Given the description of an element on the screen output the (x, y) to click on. 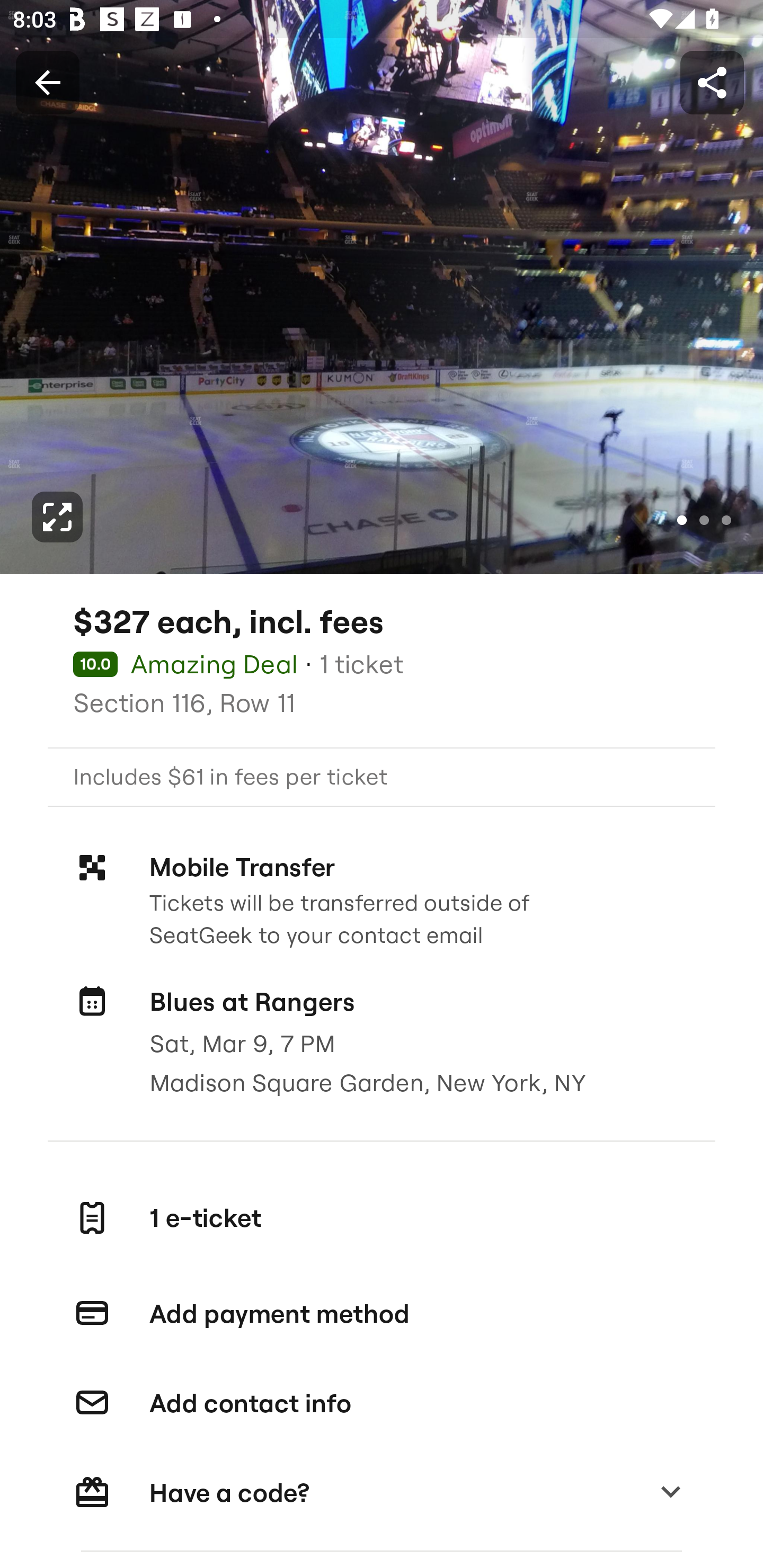
Back (47, 81)
Share (711, 81)
Expand image to fullscreen (57, 517)
1 e-ticket (381, 1217)
Add payment method (381, 1313)
Add contact info (381, 1403)
Have a code? Expand to show options (381, 1493)
